Given the description of an element on the screen output the (x, y) to click on. 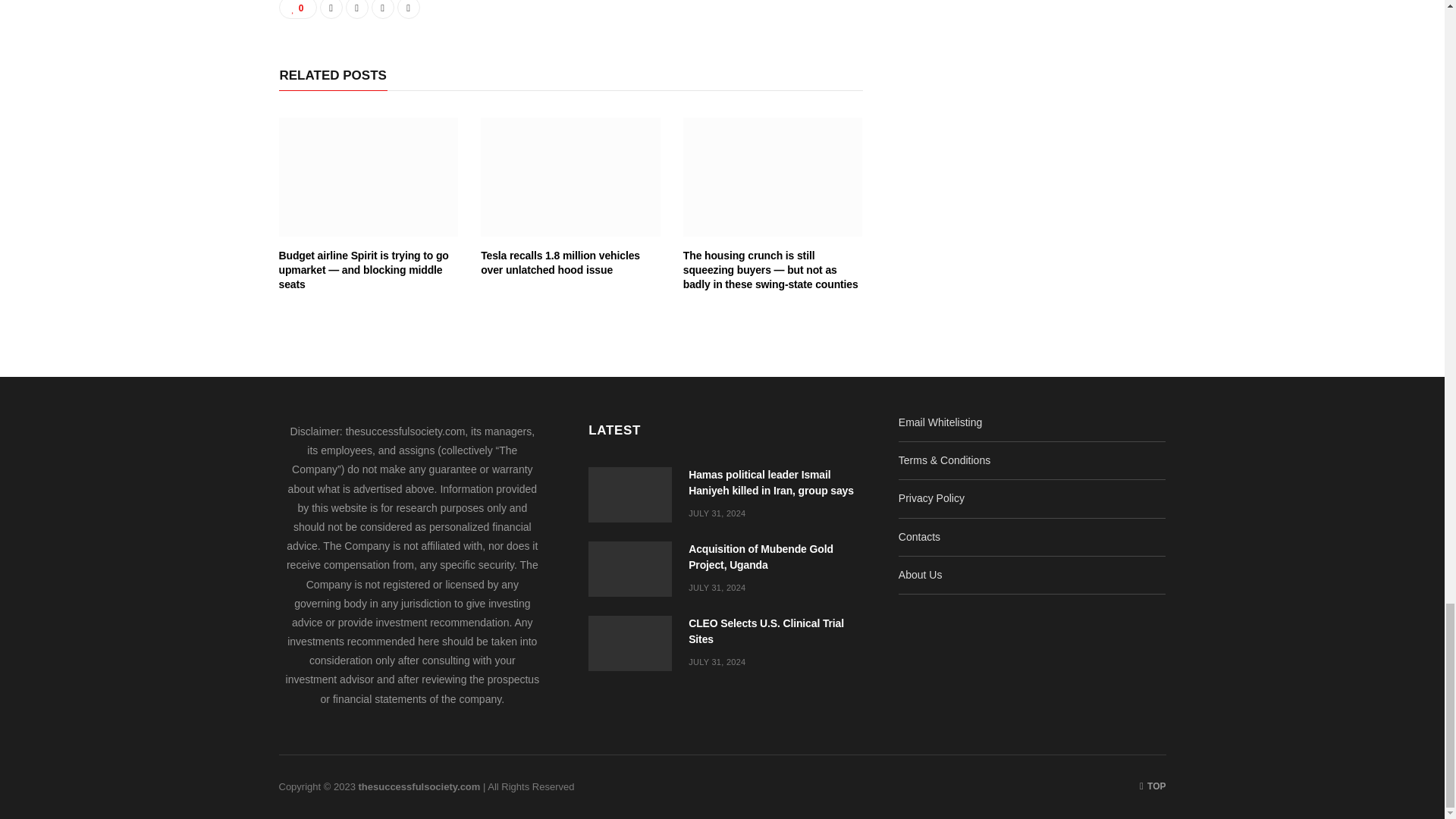
Tesla recalls 1.8 million vehicles over unlatched hood issue (560, 262)
0 (298, 9)
